Given the description of an element on the screen output the (x, y) to click on. 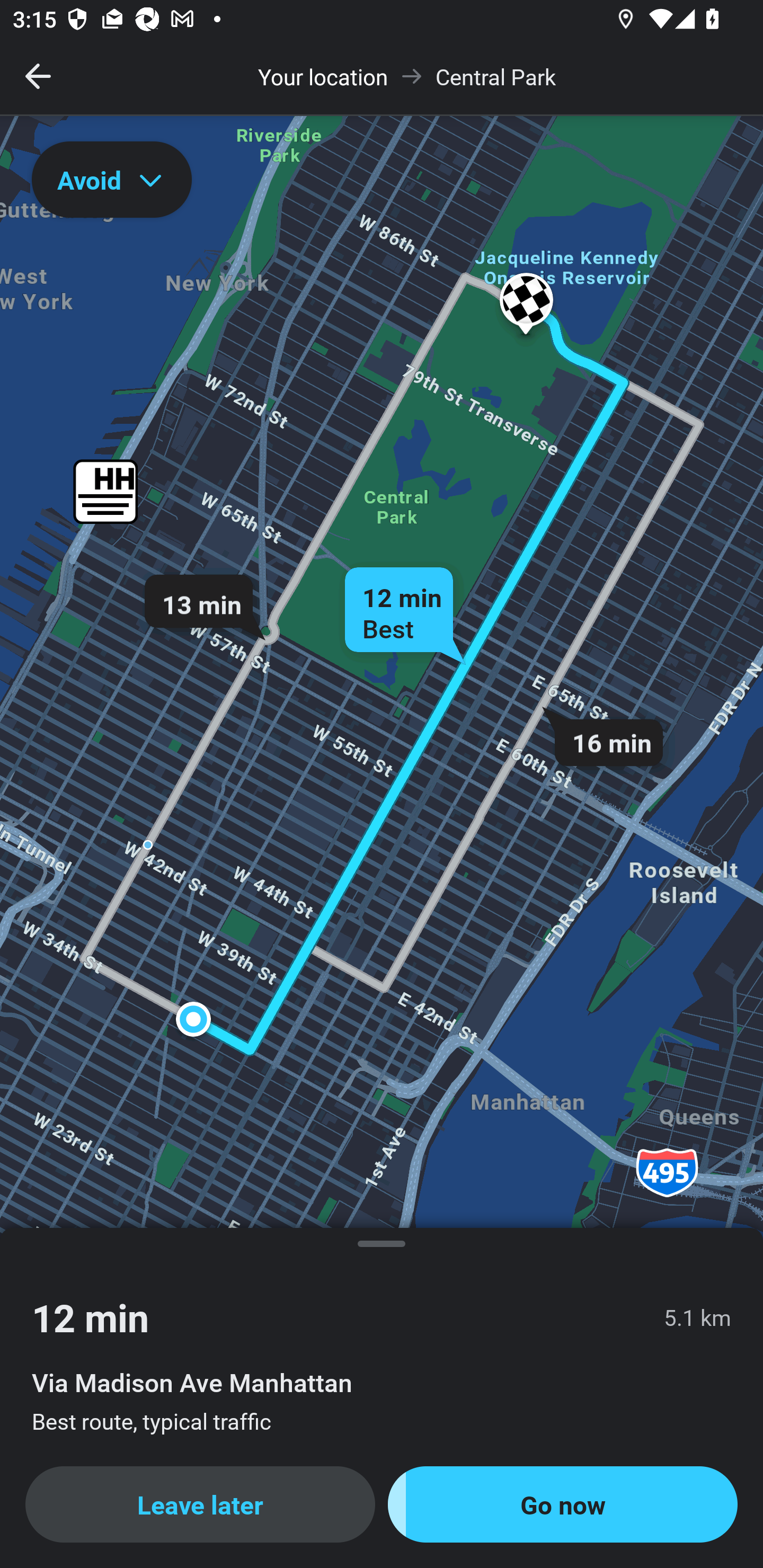
Leave later (200, 1504)
Go now (562, 1504)
